Given the description of an element on the screen output the (x, y) to click on. 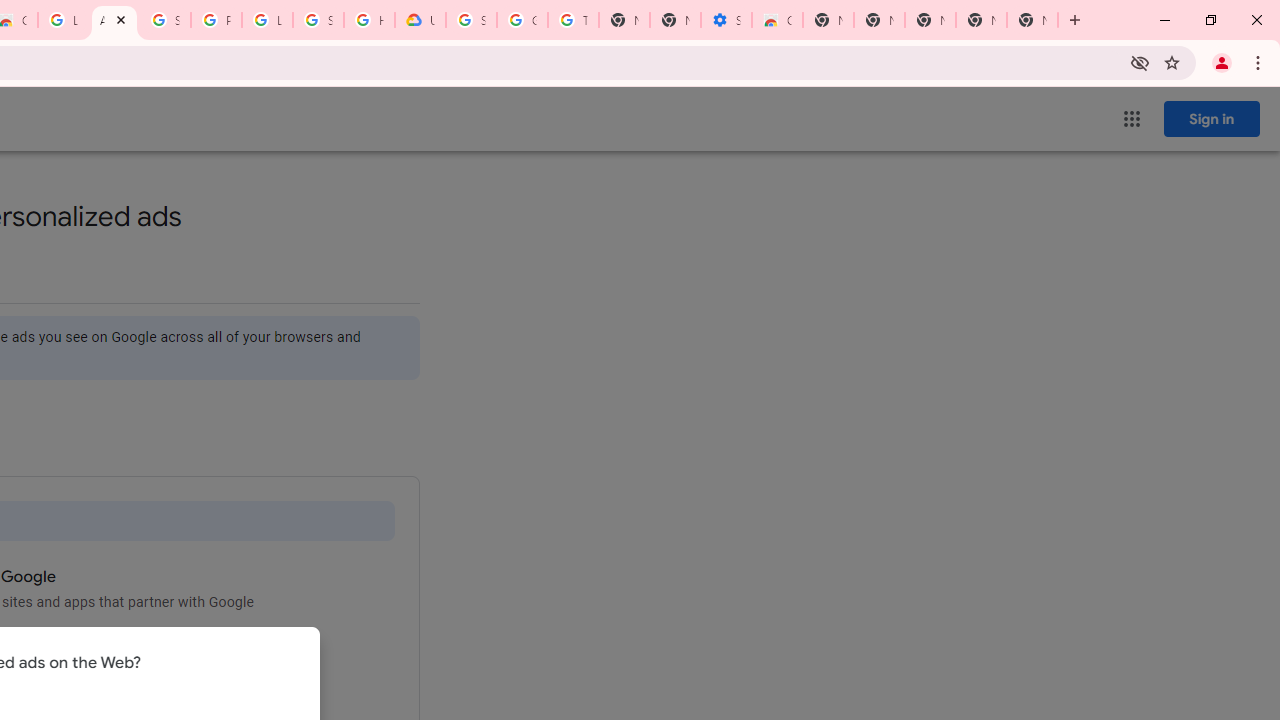
Chrome Web Store - Accessibility extensions (776, 20)
Sign in - Google Accounts (164, 20)
Settings - Accessibility (726, 20)
Ad Settings (113, 20)
Turn cookies on or off - Computer - Google Account Help (573, 20)
